Given the description of an element on the screen output the (x, y) to click on. 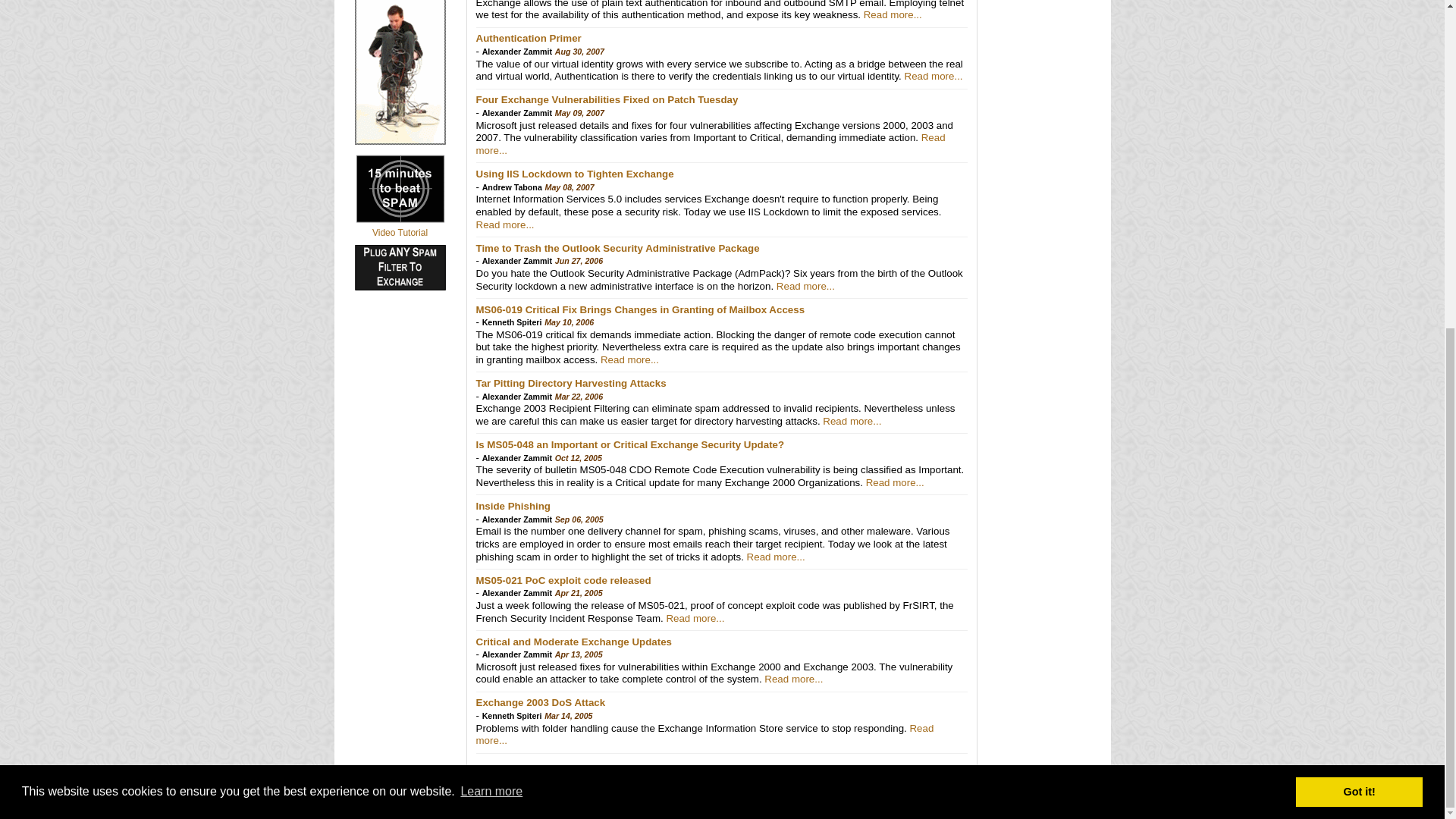
Learn more (491, 250)
IMF Tune Video Tutorial (400, 232)
Video Tutorial (400, 232)
WinDeveloper IMF Tune (400, 286)
WinDeveloper IMF Tune (400, 141)
IMF Tune Video Tutorial (400, 219)
